Given the description of an element on the screen output the (x, y) to click on. 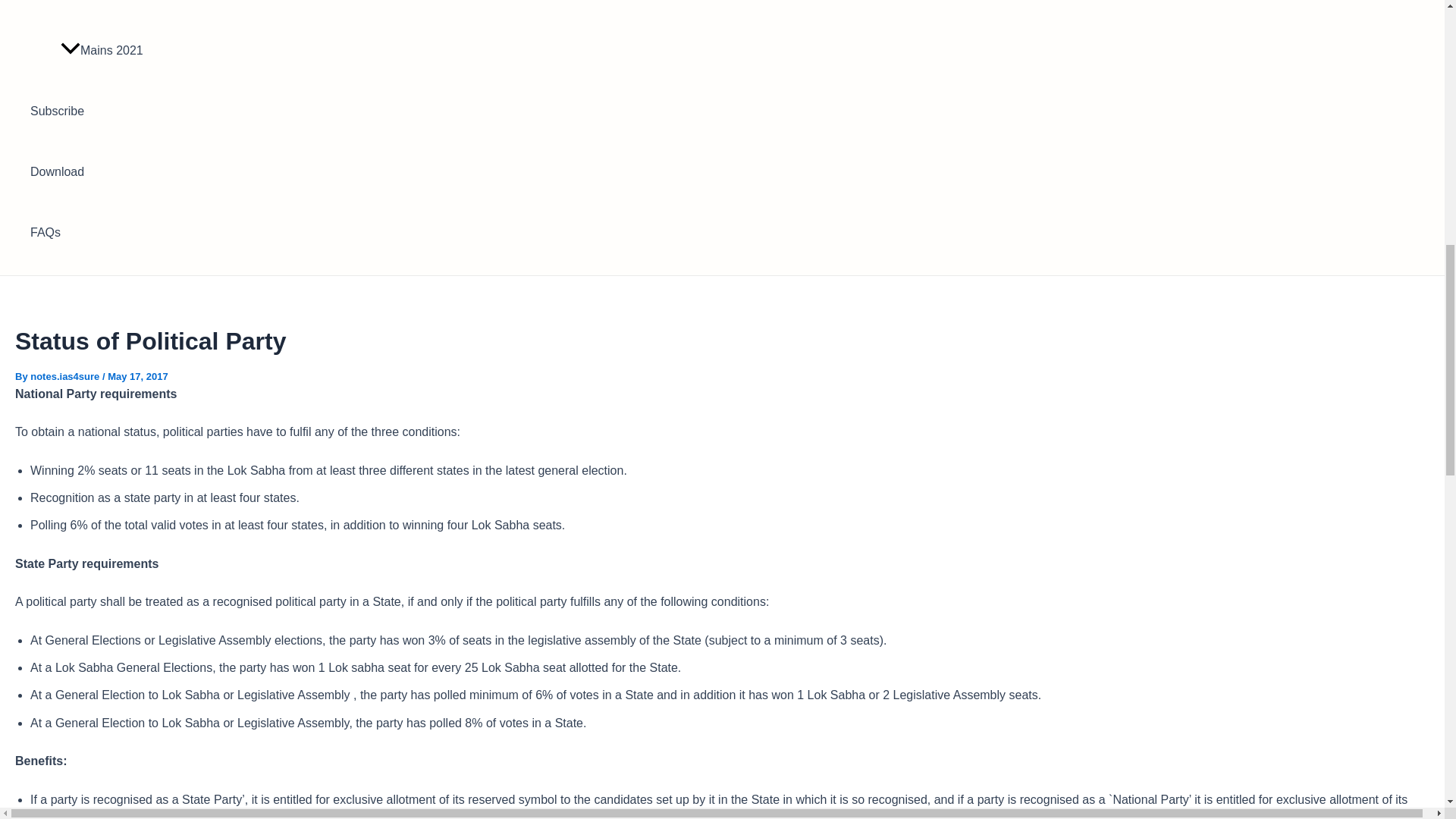
Prelims 2021 (120, 10)
FAQs (105, 232)
notes.ias4sure (65, 376)
Download (105, 171)
Subscribe (105, 111)
Mains 2021 (120, 50)
View all posts by notes.ias4sure (65, 376)
